Given the description of an element on the screen output the (x, y) to click on. 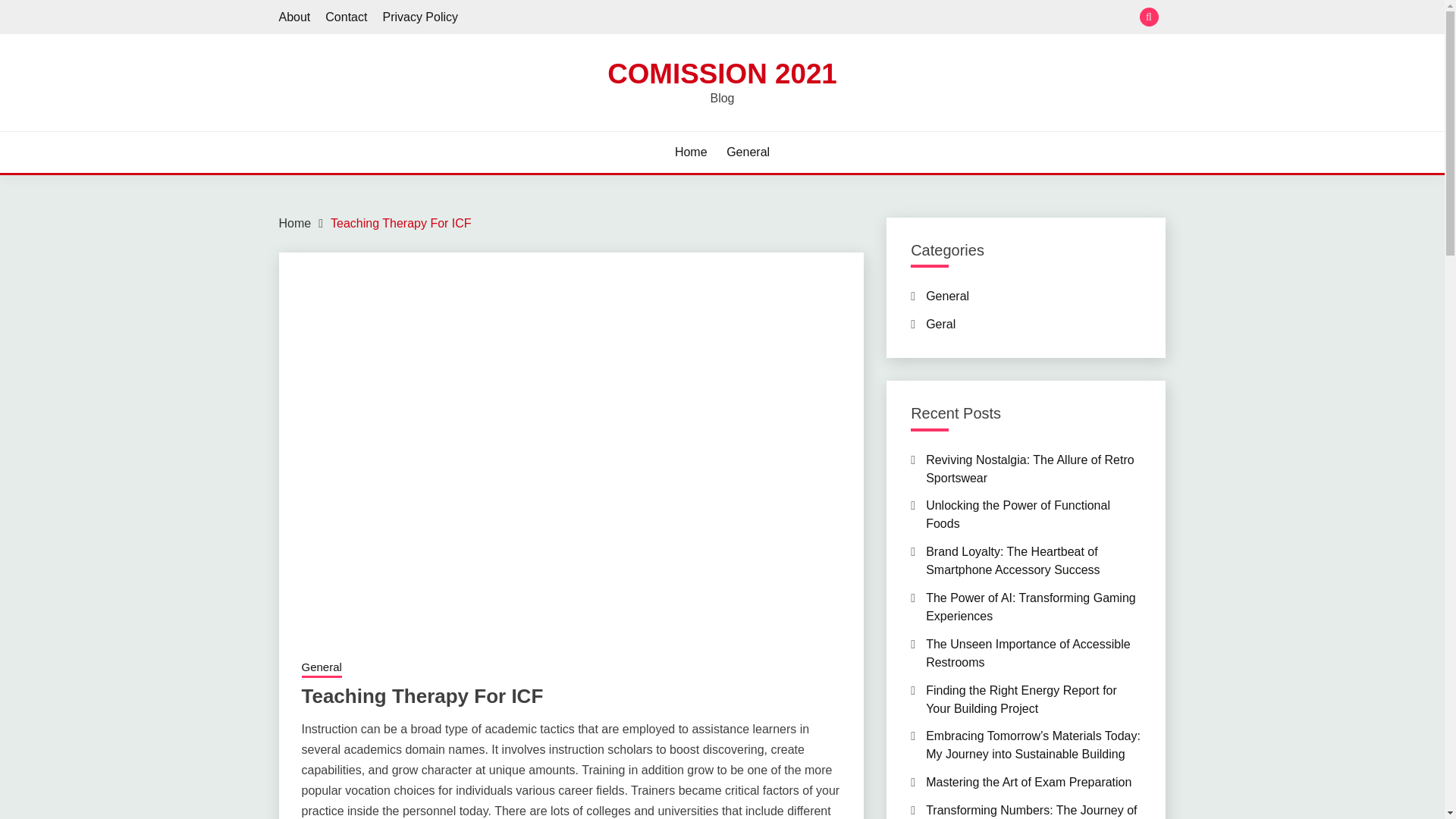
General (321, 668)
Home (691, 152)
Contact (345, 16)
COMISSION 2021 (722, 73)
Home (295, 223)
Privacy Policy (419, 16)
Teaching Therapy For ICF (400, 223)
General (748, 152)
Reviving Nostalgia: The Allure of Retro Sportswear (1030, 468)
General (947, 295)
